Given the description of an element on the screen output the (x, y) to click on. 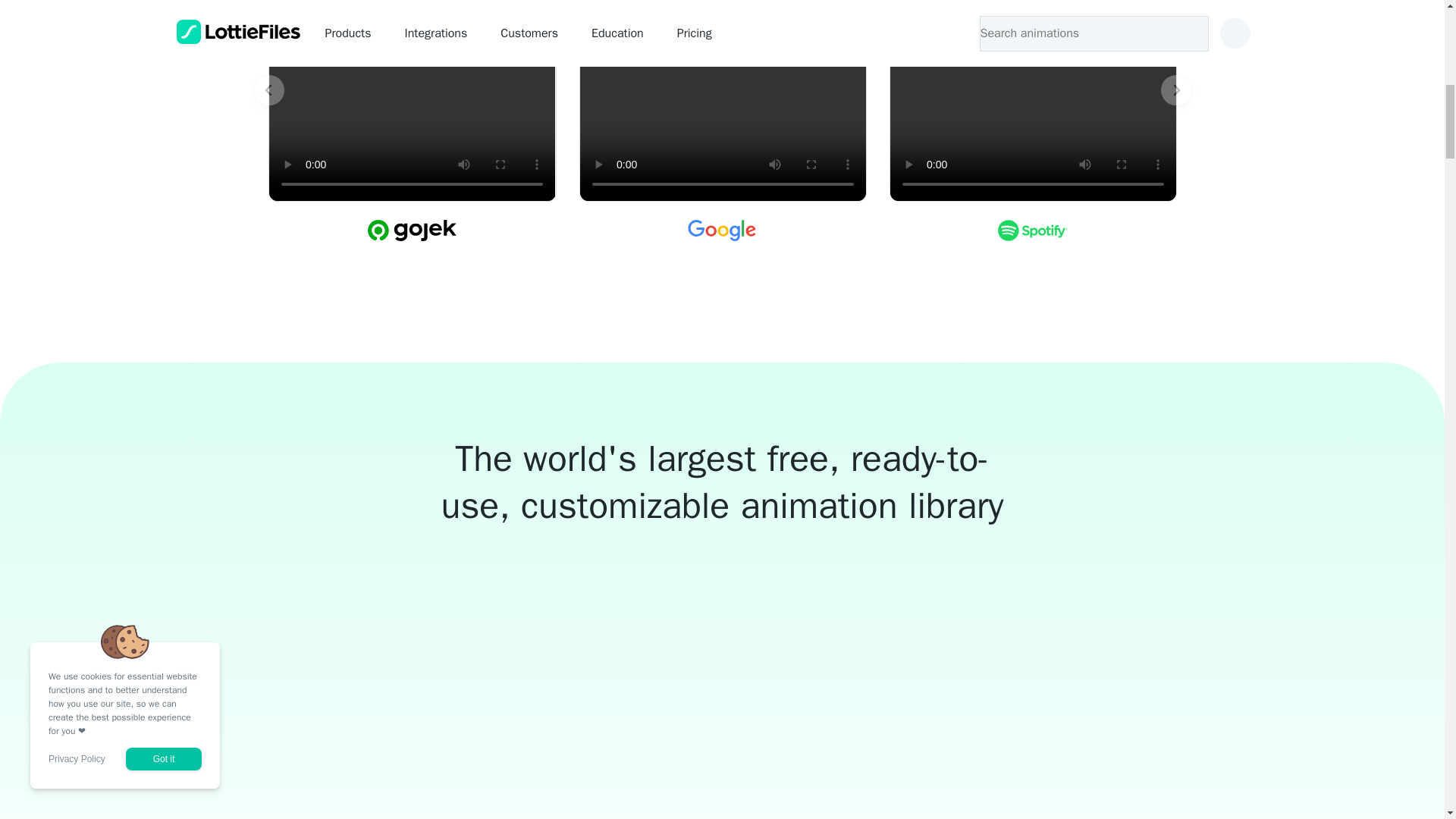
Google case study (721, 100)
Gojek case study (410, 100)
Your browser does not support the video tag. (1031, 100)
Spotify case study (1031, 100)
Your browser does not support the video tag. (410, 100)
Your browser does not support the video tag. (721, 100)
